Given the description of an element on the screen output the (x, y) to click on. 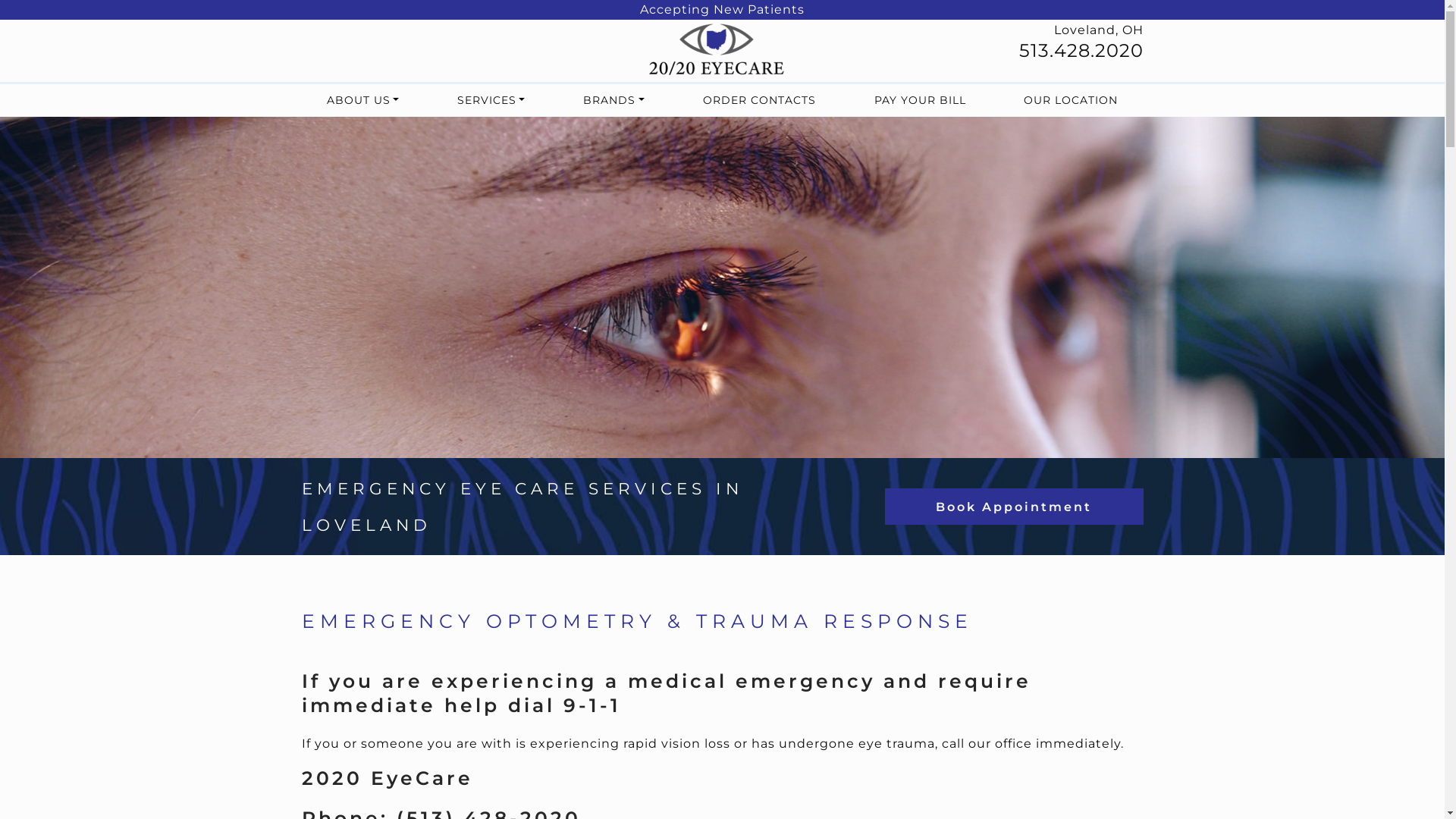
SERVICES Element type: text (491, 100)
PAY YOUR BILL Element type: text (920, 100)
OUR LOCATION Element type: text (1070, 100)
ABOUT US Element type: text (362, 100)
ORDER CONTACTS Element type: text (759, 100)
Book Appointment Element type: text (1013, 506)
BRANDS Element type: text (613, 100)
513.428.2020 Element type: text (1081, 50)
